Given the description of an element on the screen output the (x, y) to click on. 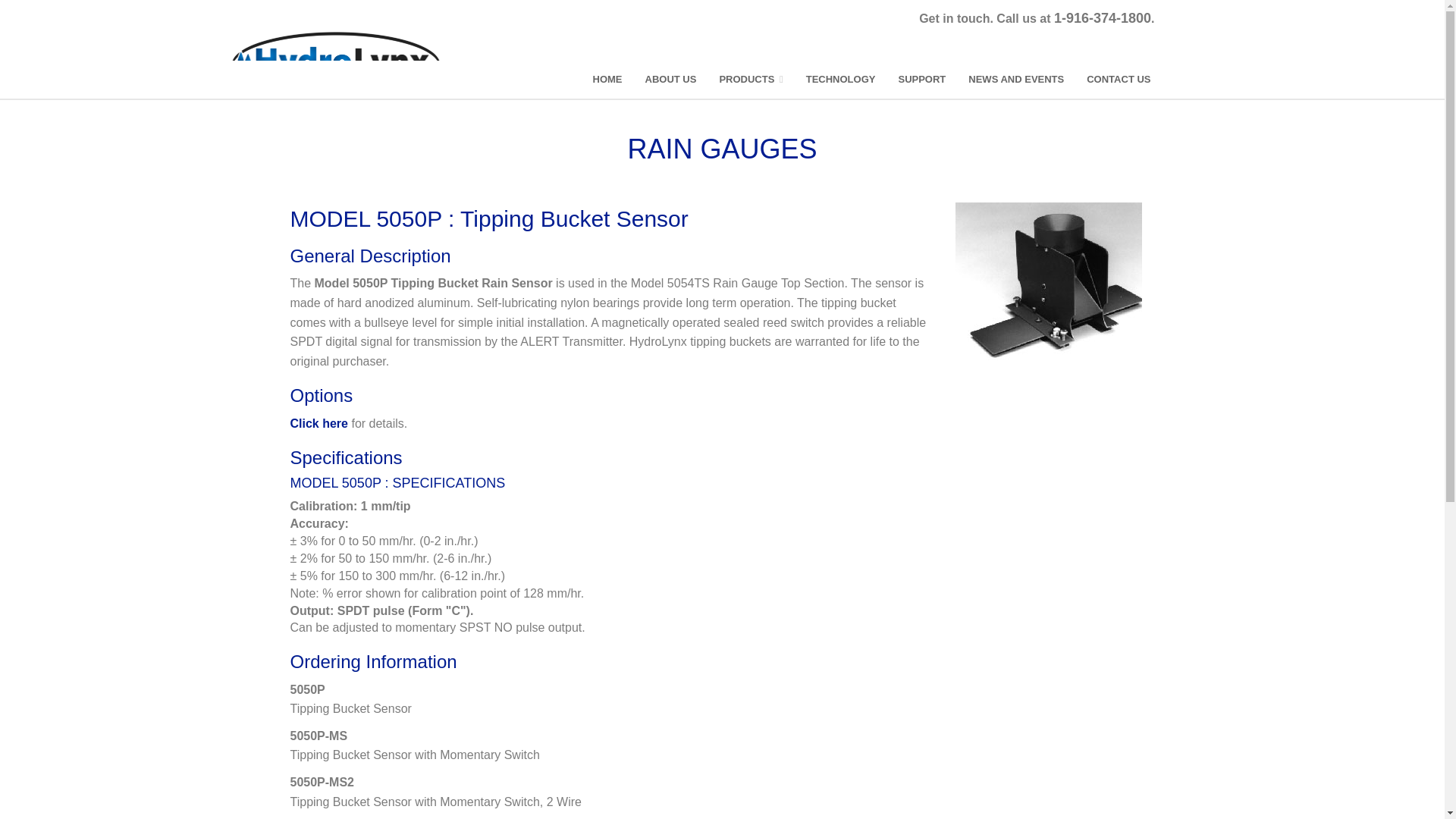
ABOUT US (670, 79)
1-916-374-1800 (1102, 17)
HOME (606, 79)
PRODUCTS (750, 79)
